Given the description of an element on the screen output the (x, y) to click on. 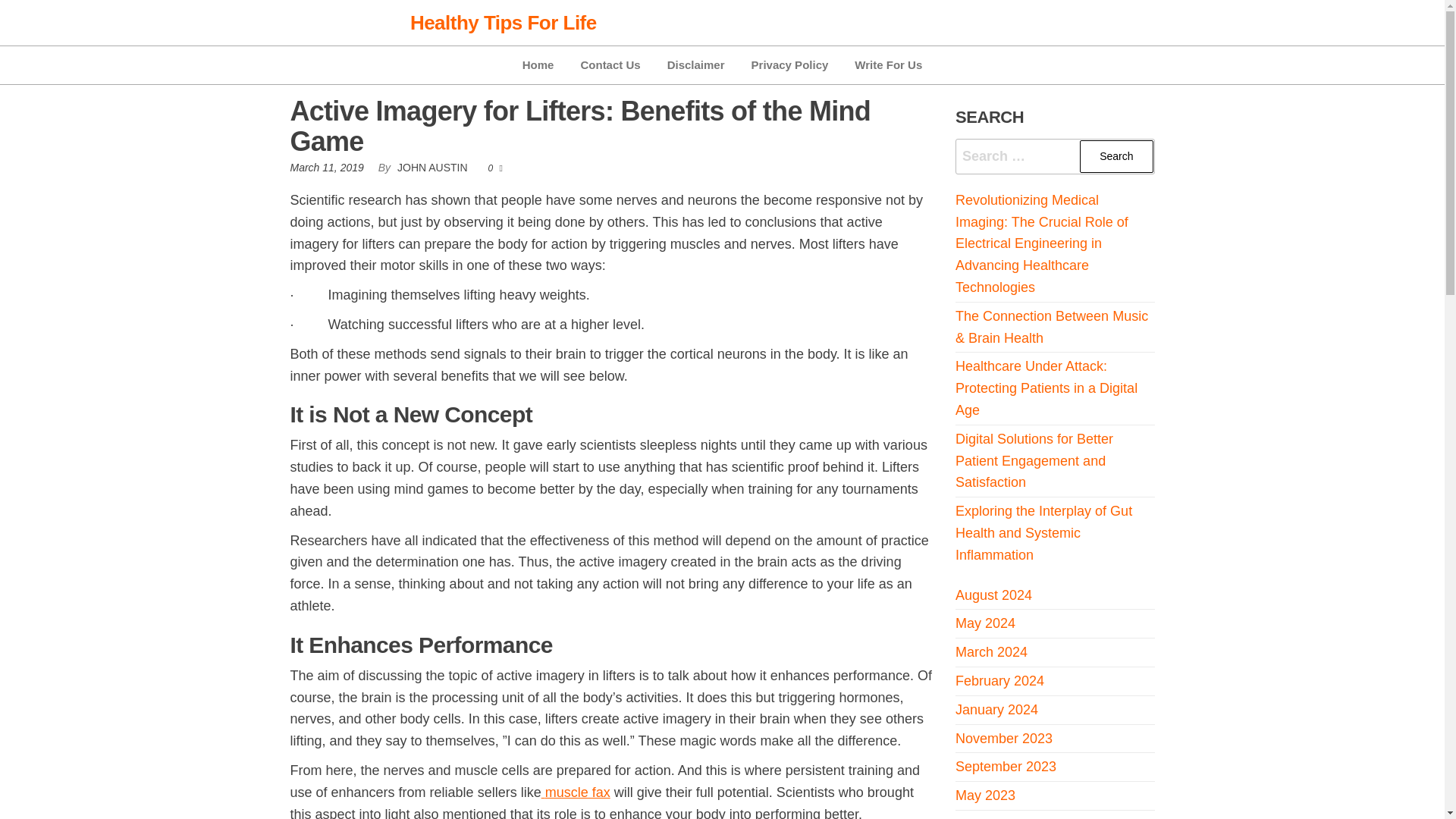
Privacy Policy (789, 64)
Disclaimer (696, 64)
Healthy Tips For Life (503, 22)
Write For Us (888, 64)
Disclaimer (696, 64)
muscle fax (577, 792)
November 2023 (1003, 738)
Home (538, 64)
JOHN AUSTIN (433, 167)
